Given the description of an element on the screen output the (x, y) to click on. 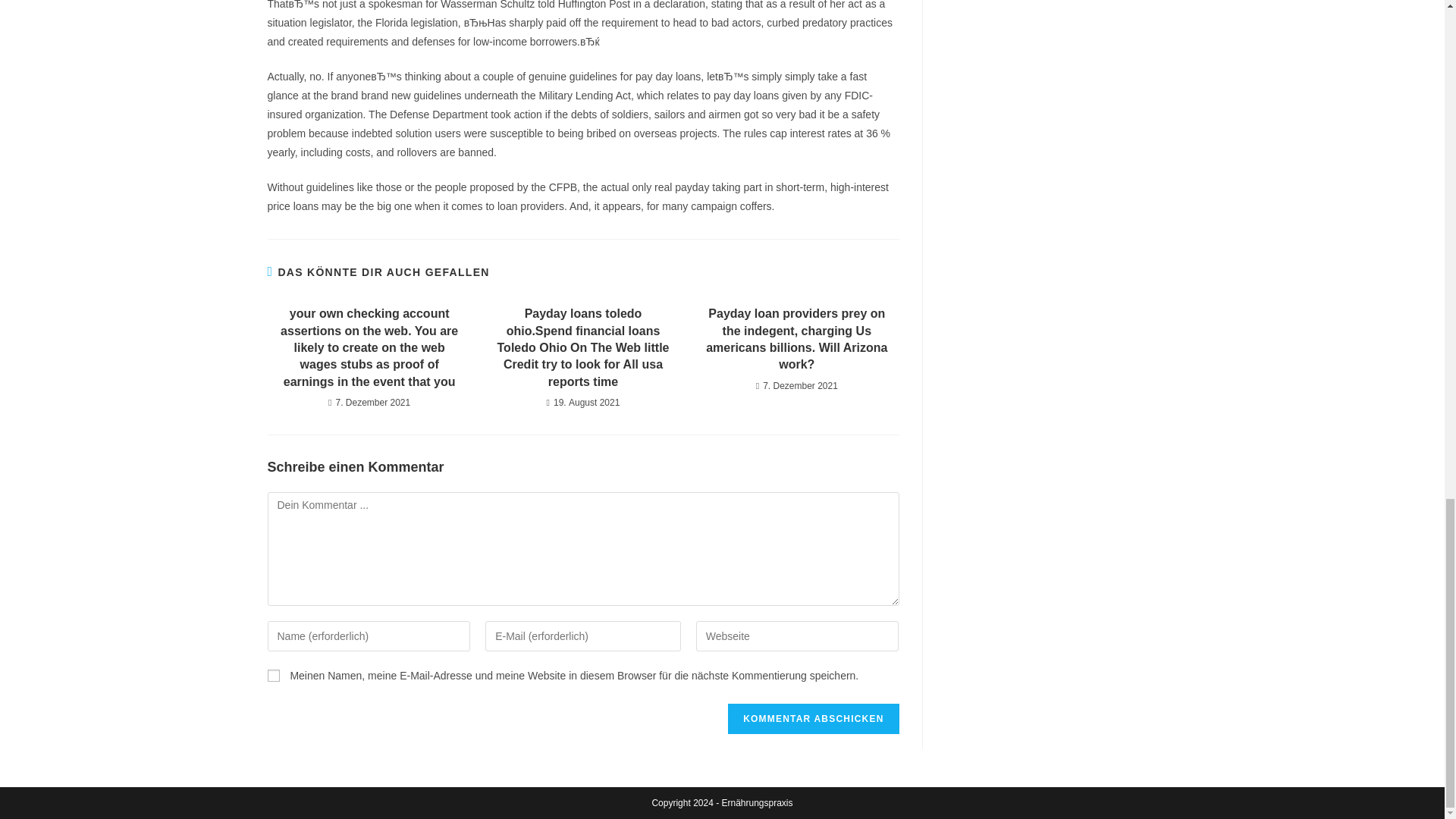
yes (272, 675)
Kommentar abschicken (813, 718)
Kommentar abschicken (813, 718)
